Given the description of an element on the screen output the (x, y) to click on. 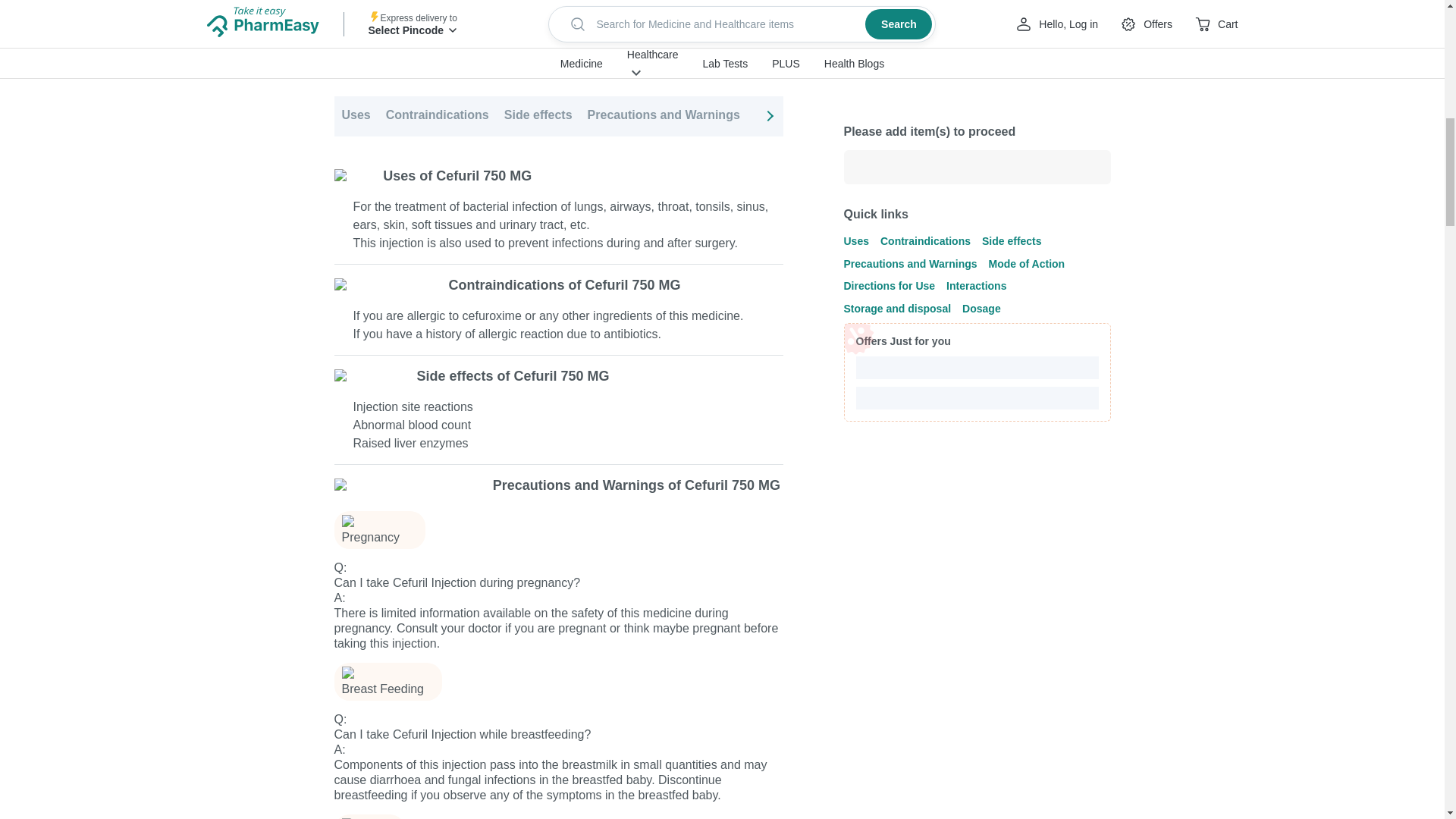
Side effects (537, 116)
Dosage (1220, 116)
Precautions and Warnings (663, 116)
Contraindications (437, 116)
Directions for Use (909, 116)
Interactions (1011, 116)
View (753, 43)
Uses (355, 116)
Mode of Action (799, 116)
Storage and disposal (1121, 116)
